Given the description of an element on the screen output the (x, y) to click on. 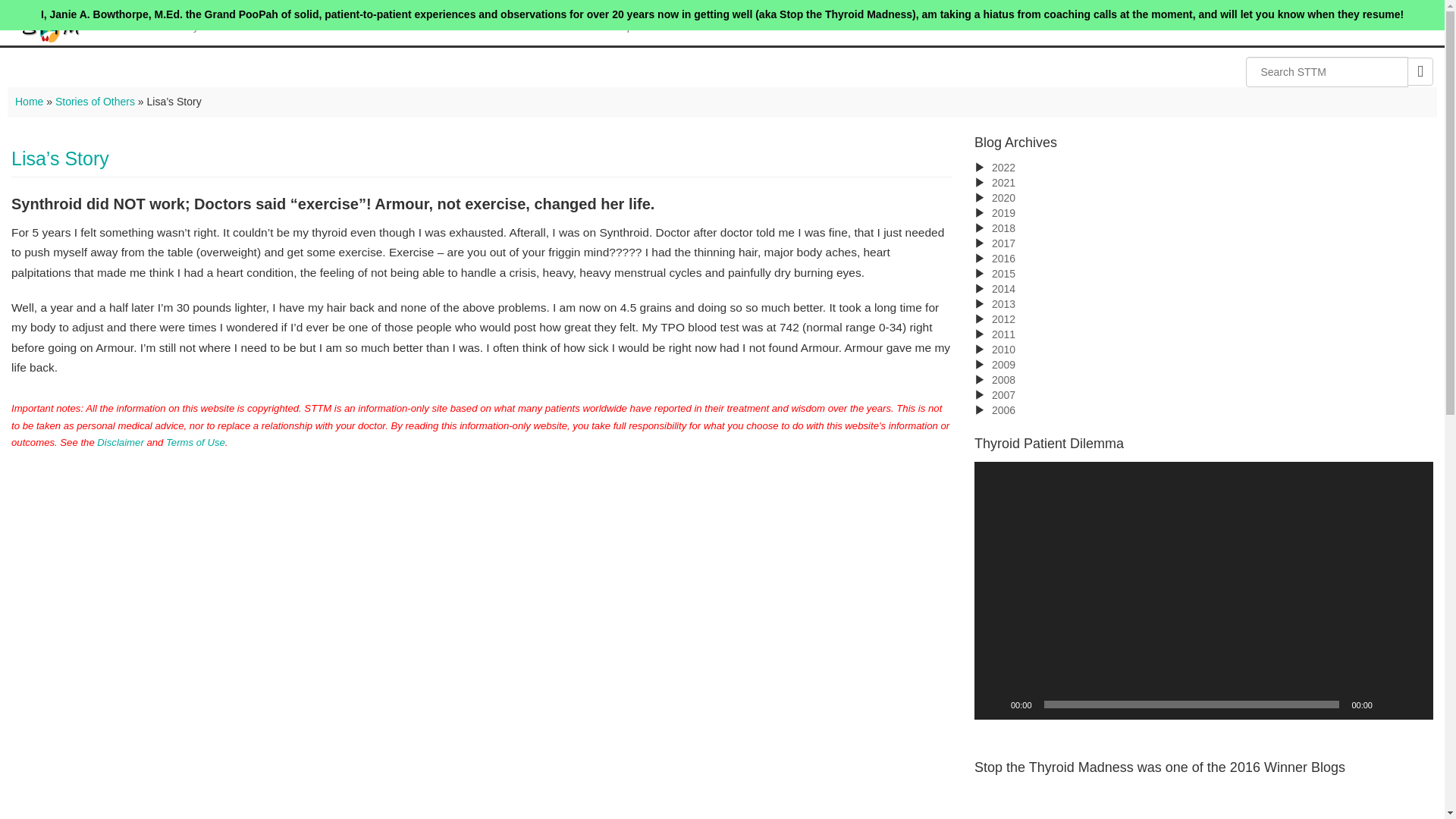
Resources (537, 26)
Conditions (383, 26)
Doctors (460, 26)
Mute (1388, 703)
Adrenals (304, 26)
Skip to Main Content (49, 37)
Play (994, 703)
Fullscreen (1413, 703)
Thyroid Meds (218, 26)
Lab Work (130, 26)
